Given the description of an element on the screen output the (x, y) to click on. 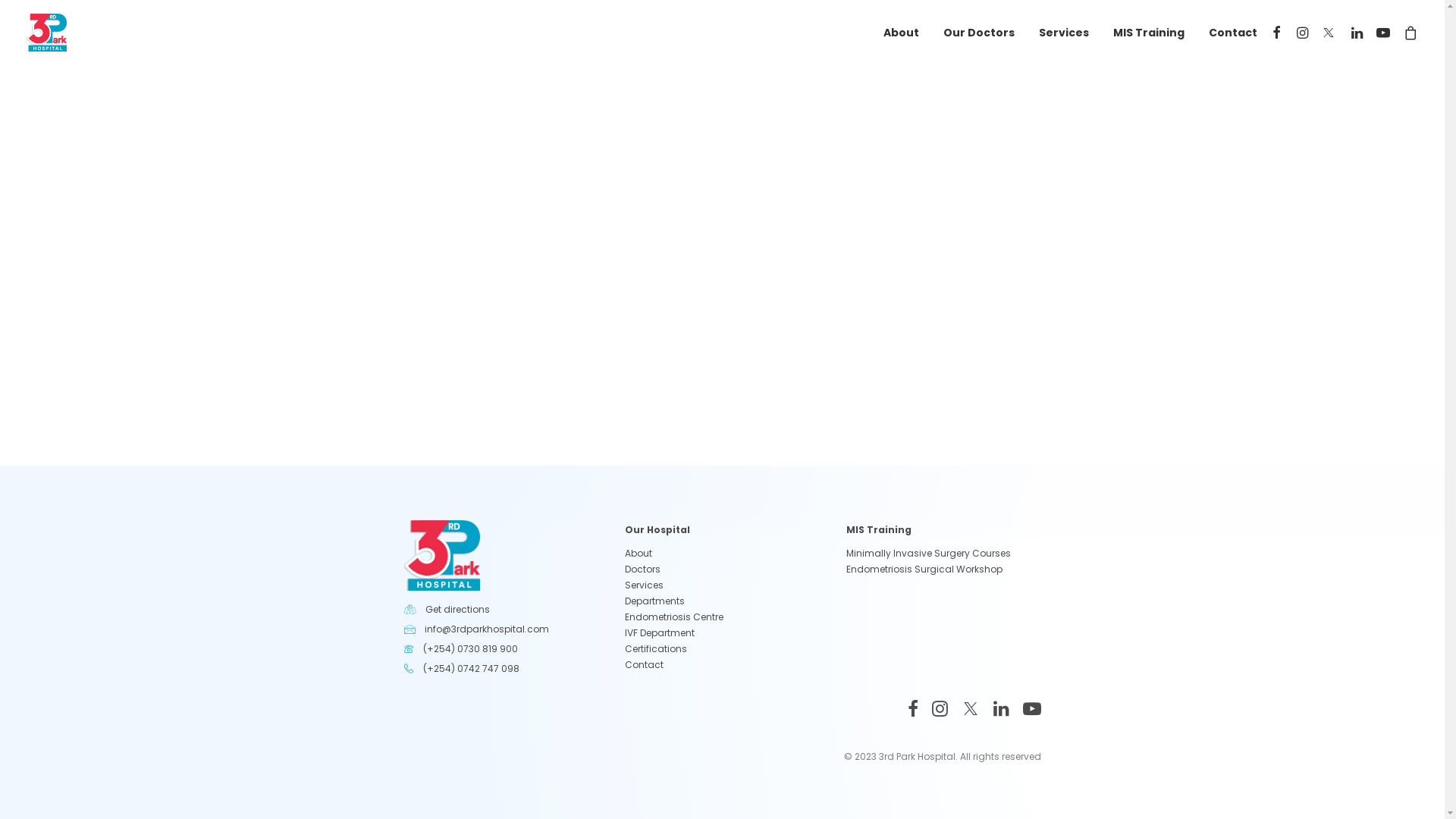
Minimally Invasive Surgery Courses Element type: text (928, 552)
Contact Element type: text (643, 664)
Certifications Element type: text (655, 648)
Services Element type: text (1063, 32)
MIS Training Element type: text (1148, 32)
Doctors Element type: text (642, 568)
Contact Element type: text (1227, 32)
Get directions Element type: text (457, 608)
Endometriosis Centre Element type: text (673, 616)
IVF Department Element type: text (659, 632)
(+254) 0730 819 900 Element type: text (470, 648)
info@3rdparkhospital.com Element type: text (486, 628)
Our Doctors Element type: text (978, 32)
Endometriosis Surgical Workshop Element type: text (924, 568)
(+254) 0742 747 098 Element type: text (471, 668)
Departments Element type: text (654, 600)
About Element type: text (900, 32)
3rd-park-logo 1 Element type: hover (441, 555)
cart Element type: hover (1407, 32)
About Element type: text (638, 552)
Services Element type: text (643, 584)
